Given the description of an element on the screen output the (x, y) to click on. 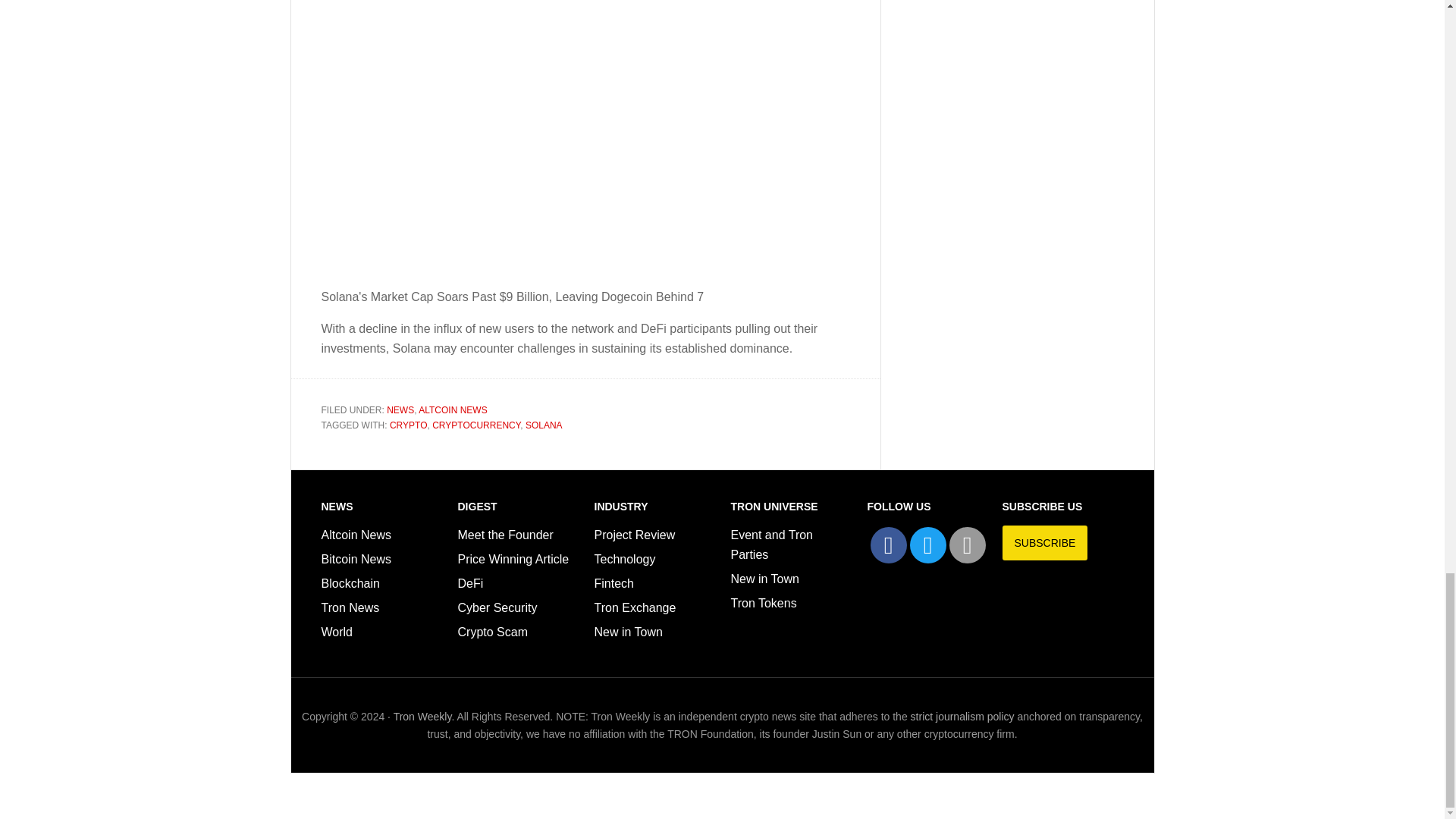
SOLANA (543, 425)
Telegram (967, 545)
Twitter (928, 545)
ALTCOIN NEWS (452, 409)
CRYPTOCURRENCY (475, 425)
Facebook (888, 545)
NEWS (400, 409)
CRYPTO (409, 425)
